Given the description of an element on the screen output the (x, y) to click on. 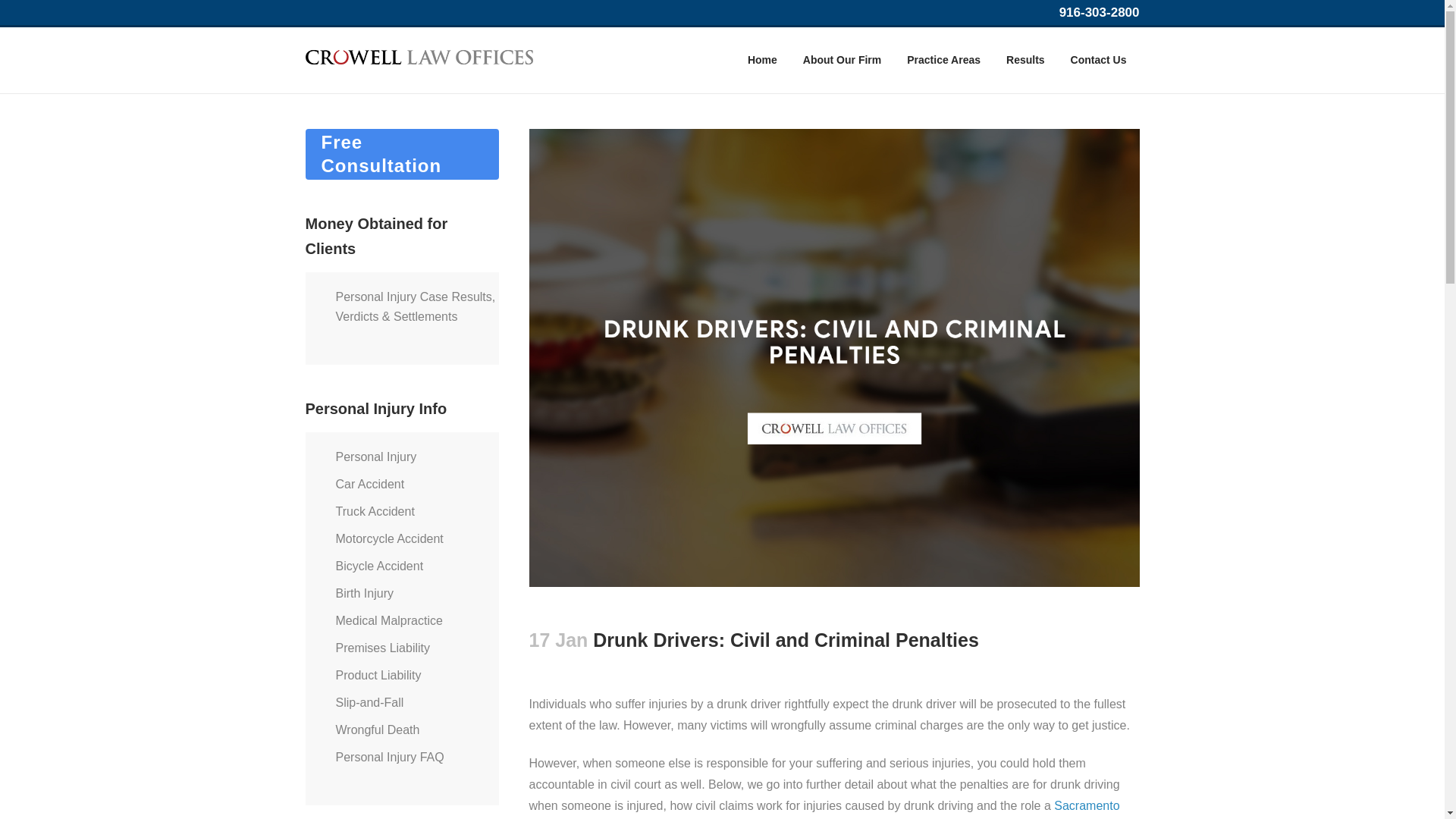
Results (1025, 60)
About Our Firm (841, 60)
Practice Areas (942, 60)
916-303-2800 (1099, 11)
